Given the description of an element on the screen output the (x, y) to click on. 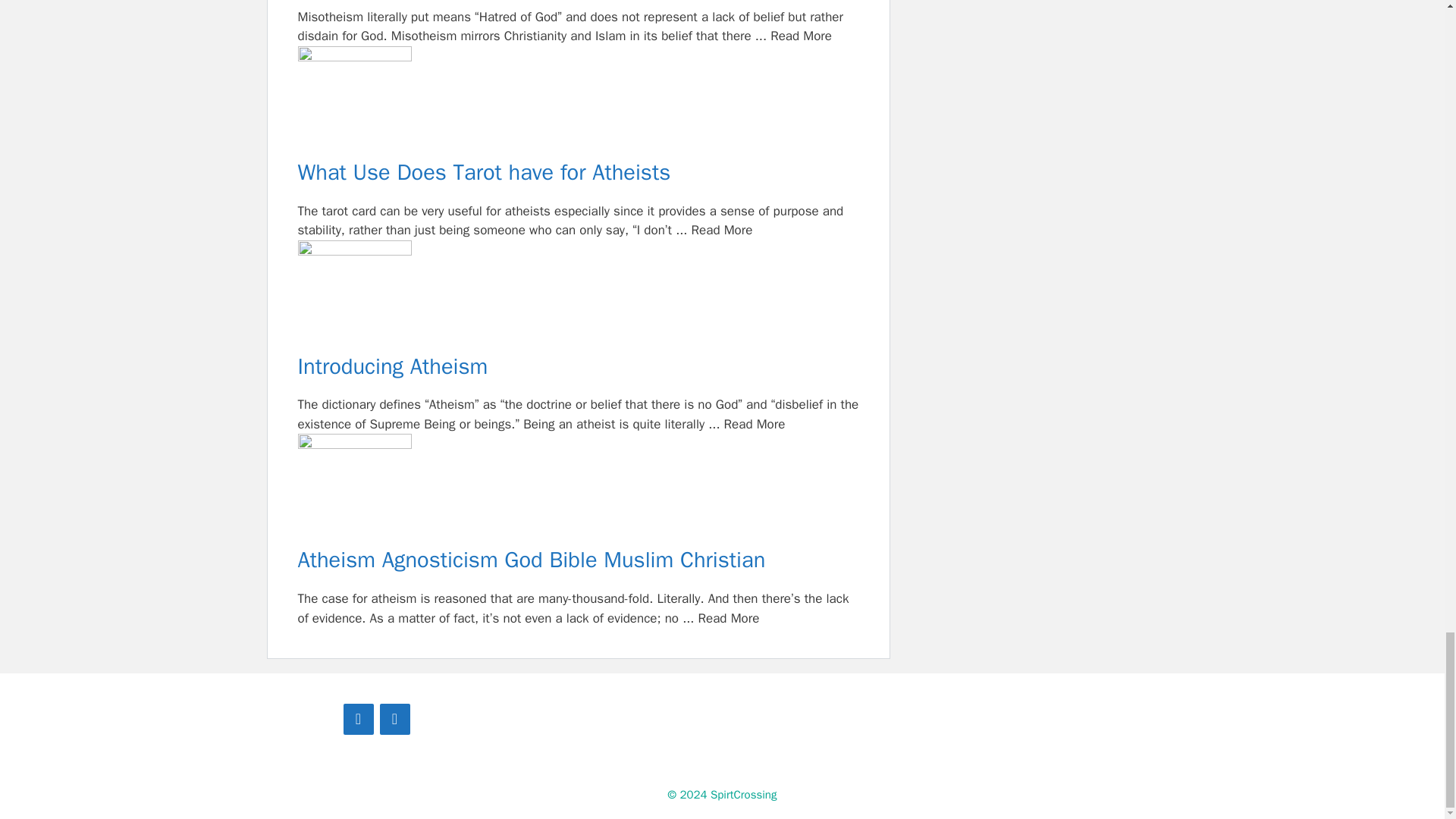
What Use Does Tarot have for Atheists (578, 172)
Atheism Agnosticism God Bible Muslim Christian (578, 560)
Introducing Atheism (578, 366)
Introducing Atheism (578, 296)
Twitter (393, 718)
What Use Does Tarot have for Atheists (578, 102)
Facebook (357, 718)
Atheism Agnosticism God Bible Muslim Christian (578, 490)
